Given the description of an element on the screen output the (x, y) to click on. 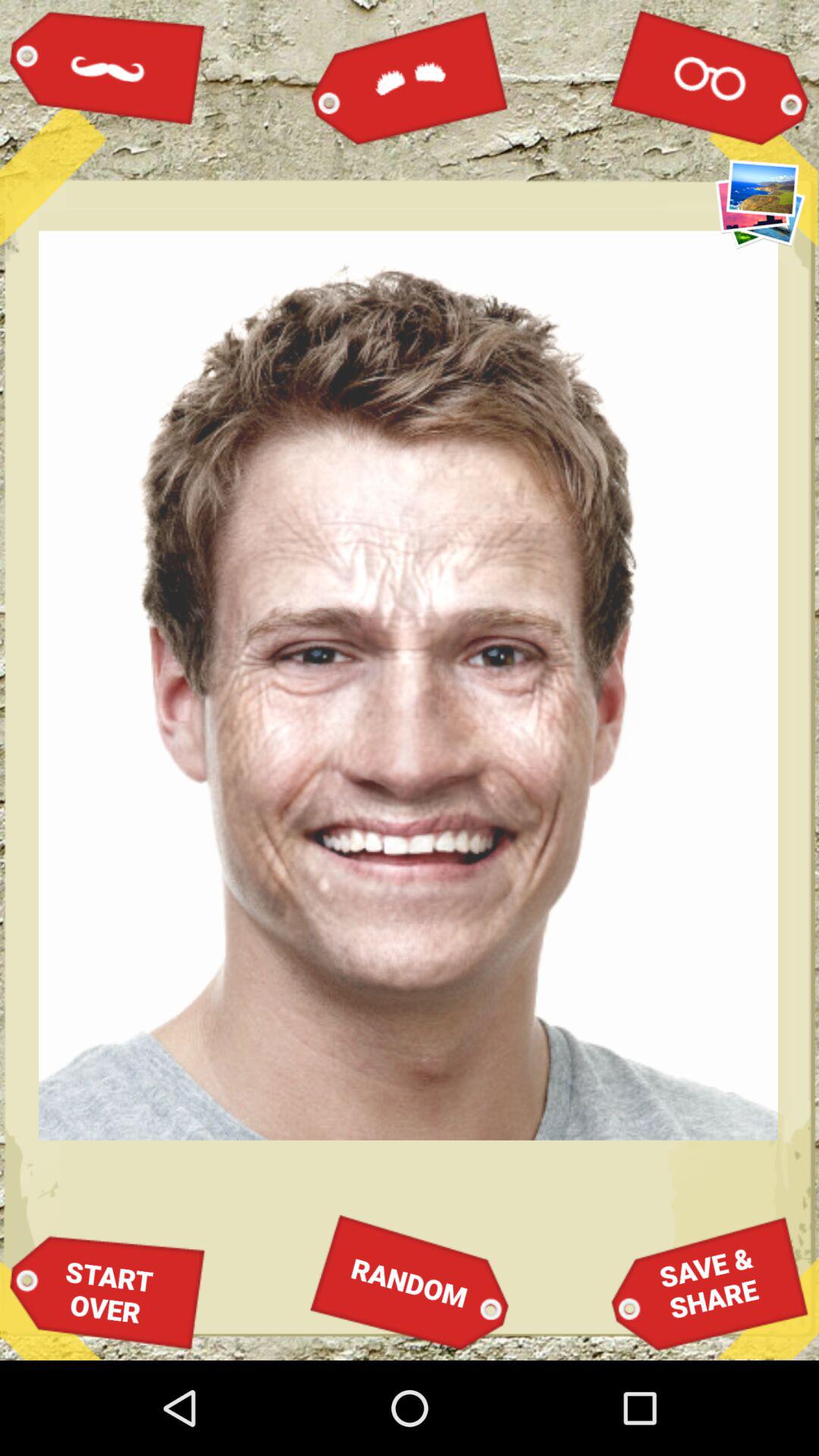
turn on the icon next to start
over (409, 1282)
